Given the description of an element on the screen output the (x, y) to click on. 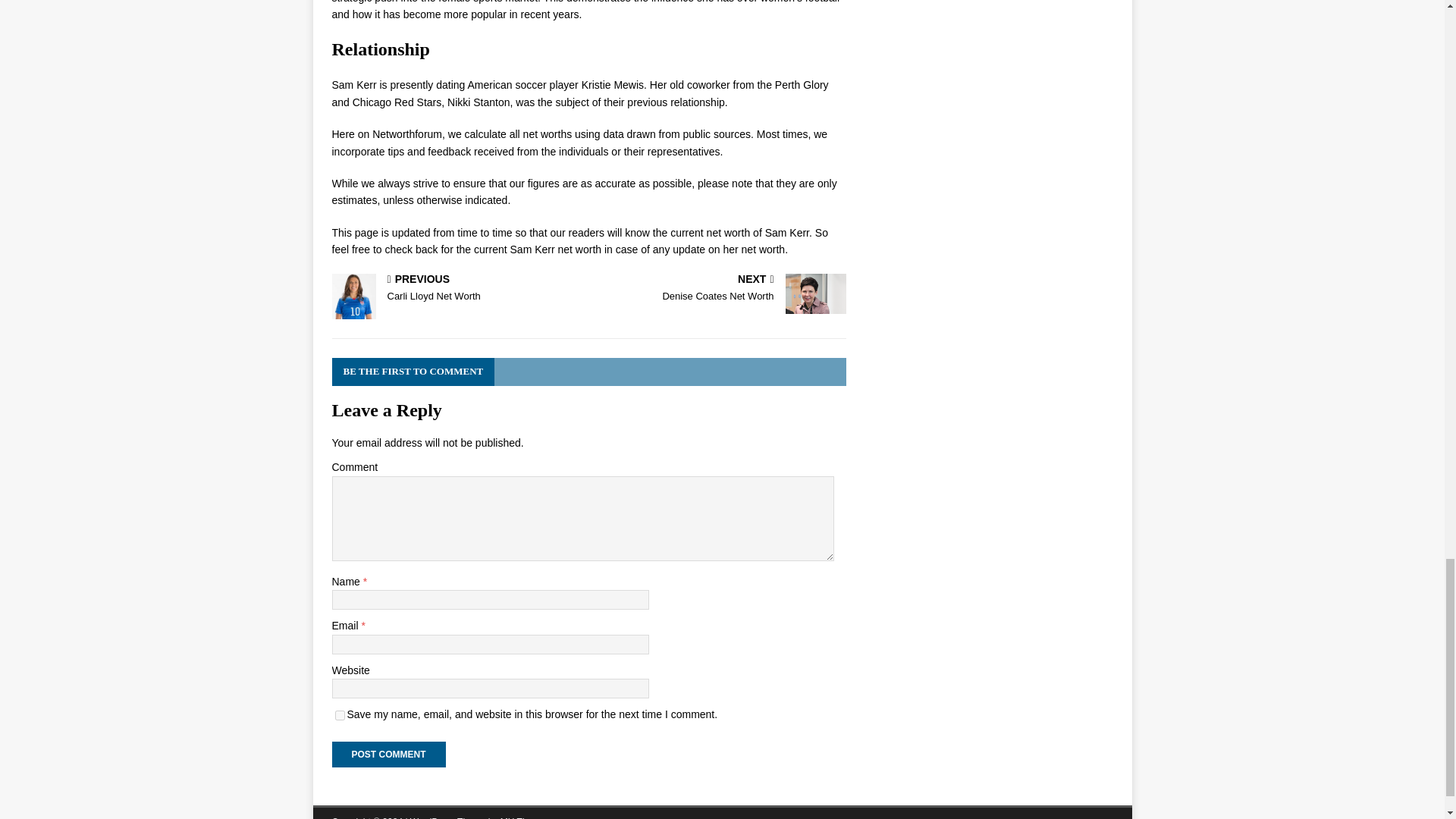
yes (720, 288)
Post Comment (339, 715)
Post Comment (388, 754)
